Given the description of an element on the screen output the (x, y) to click on. 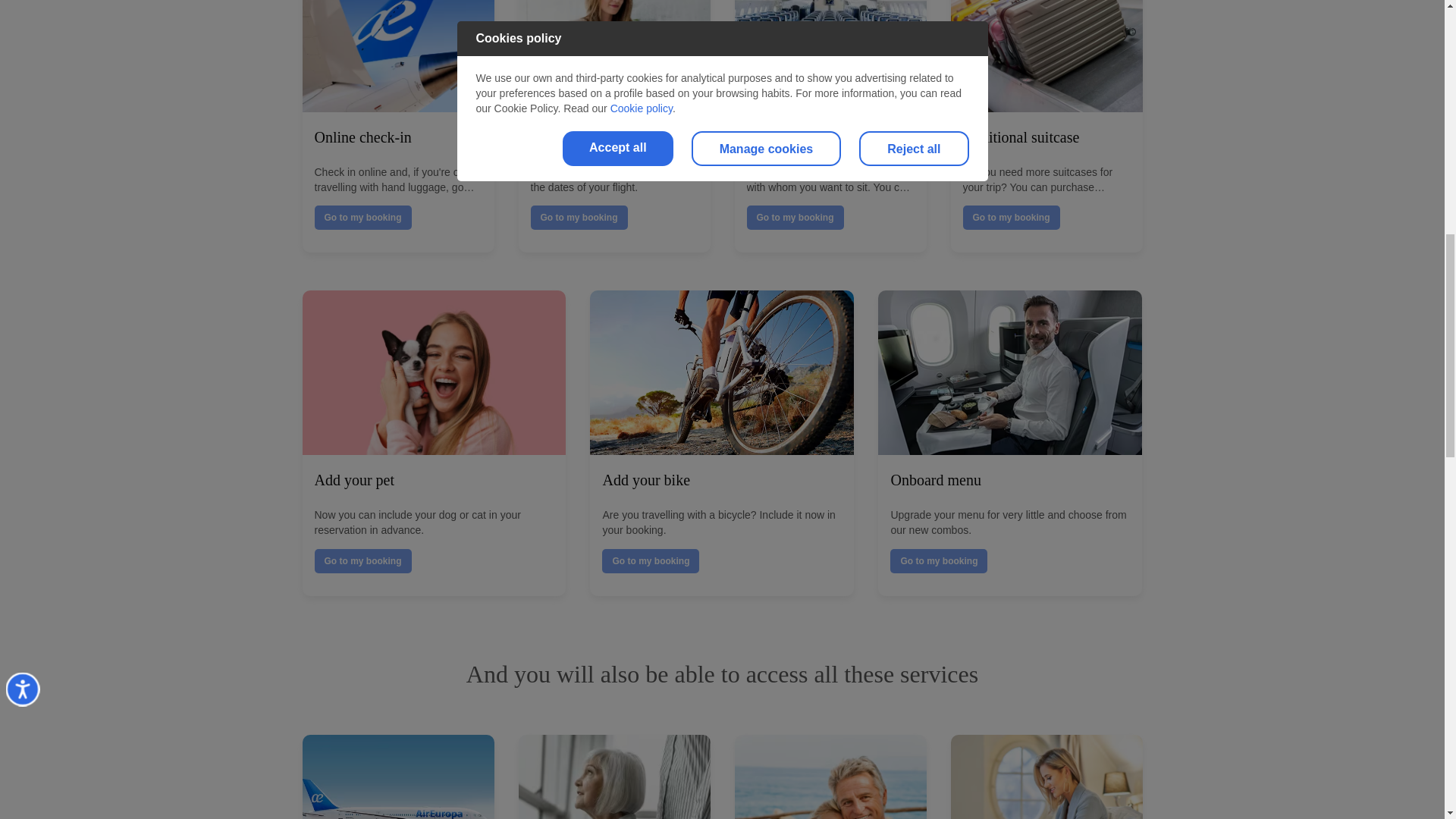
Go to my booking (362, 217)
Go to my booking (938, 560)
Go to my booking (650, 560)
Go to my booking (579, 217)
Go to my booking (362, 560)
Go to my booking (1010, 217)
Go to my booking (794, 217)
